Given the description of an element on the screen output the (x, y) to click on. 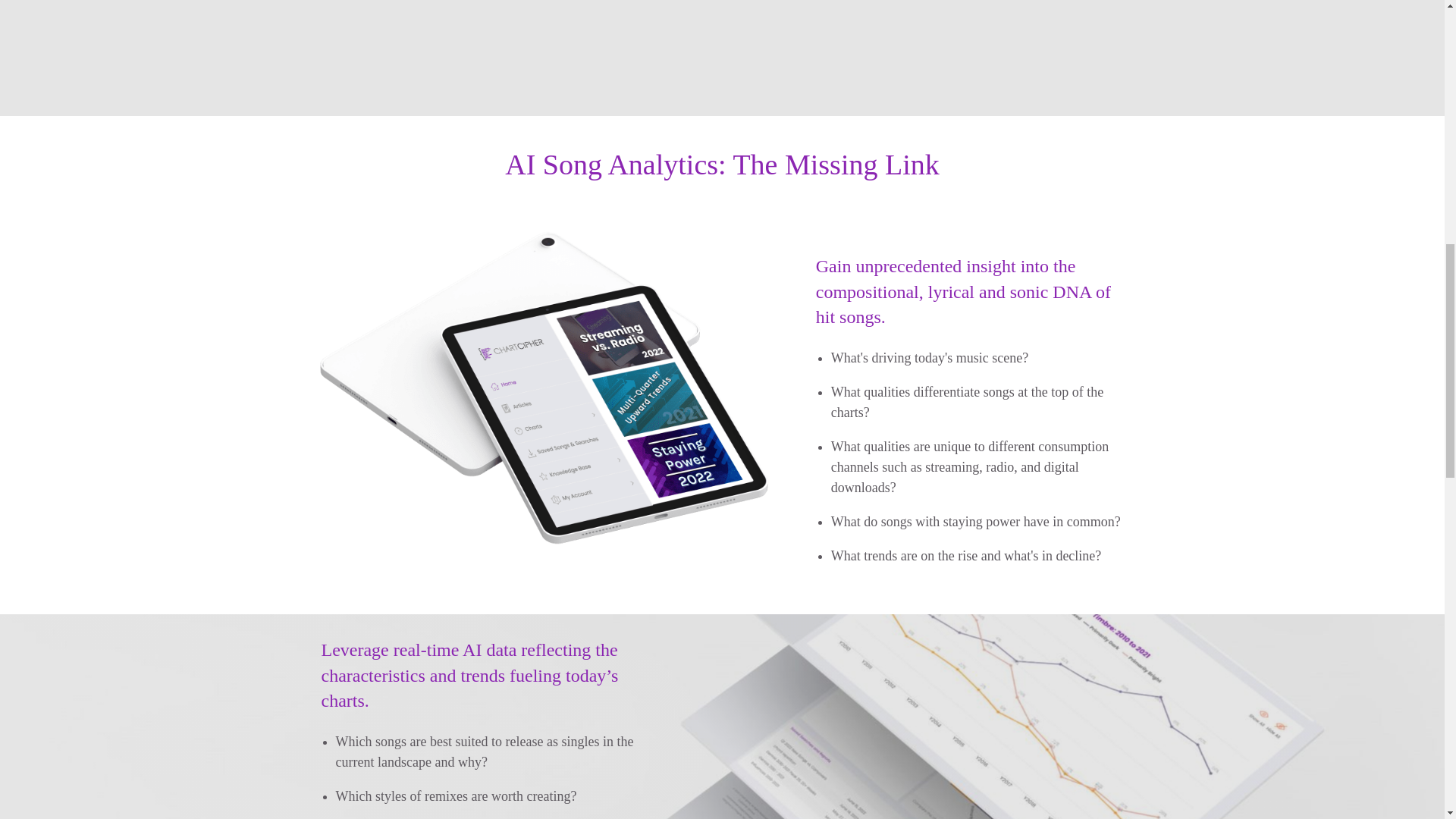
Responsive Video (722, 32)
